Given the description of an element on the screen output the (x, y) to click on. 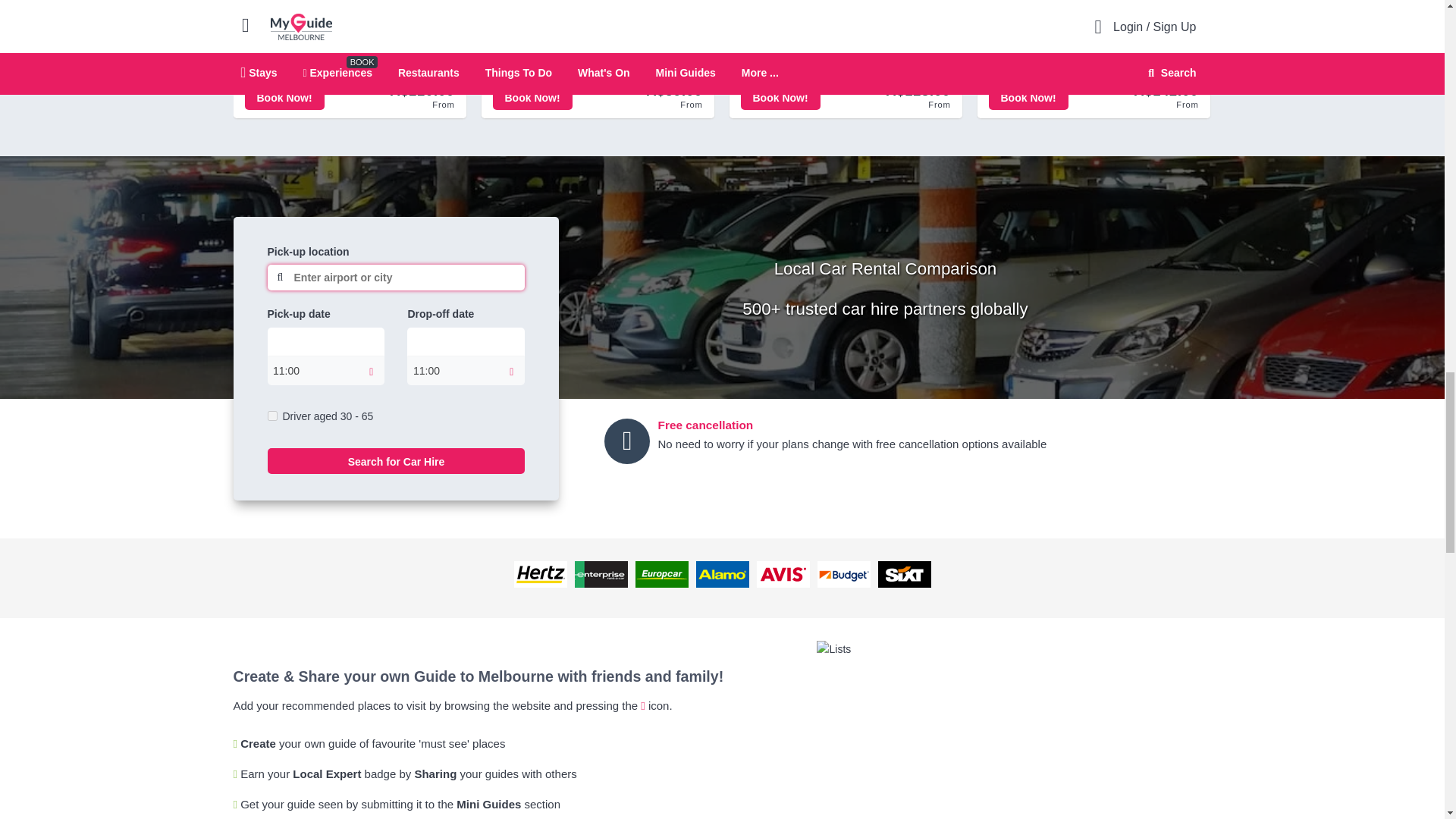
on (271, 415)
